Given the description of an element on the screen output the (x, y) to click on. 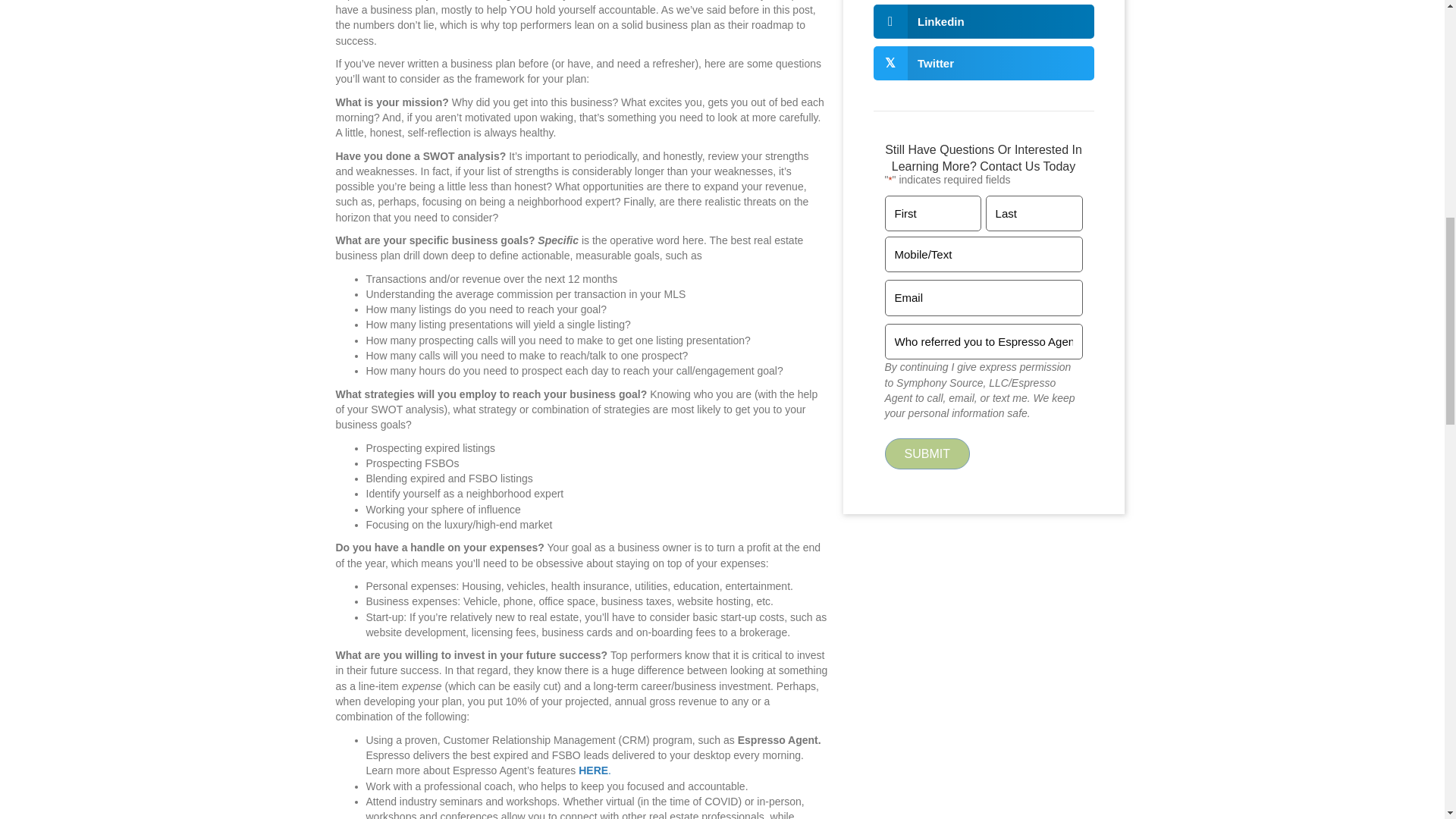
SUBMIT (926, 453)
